Given the description of an element on the screen output the (x, y) to click on. 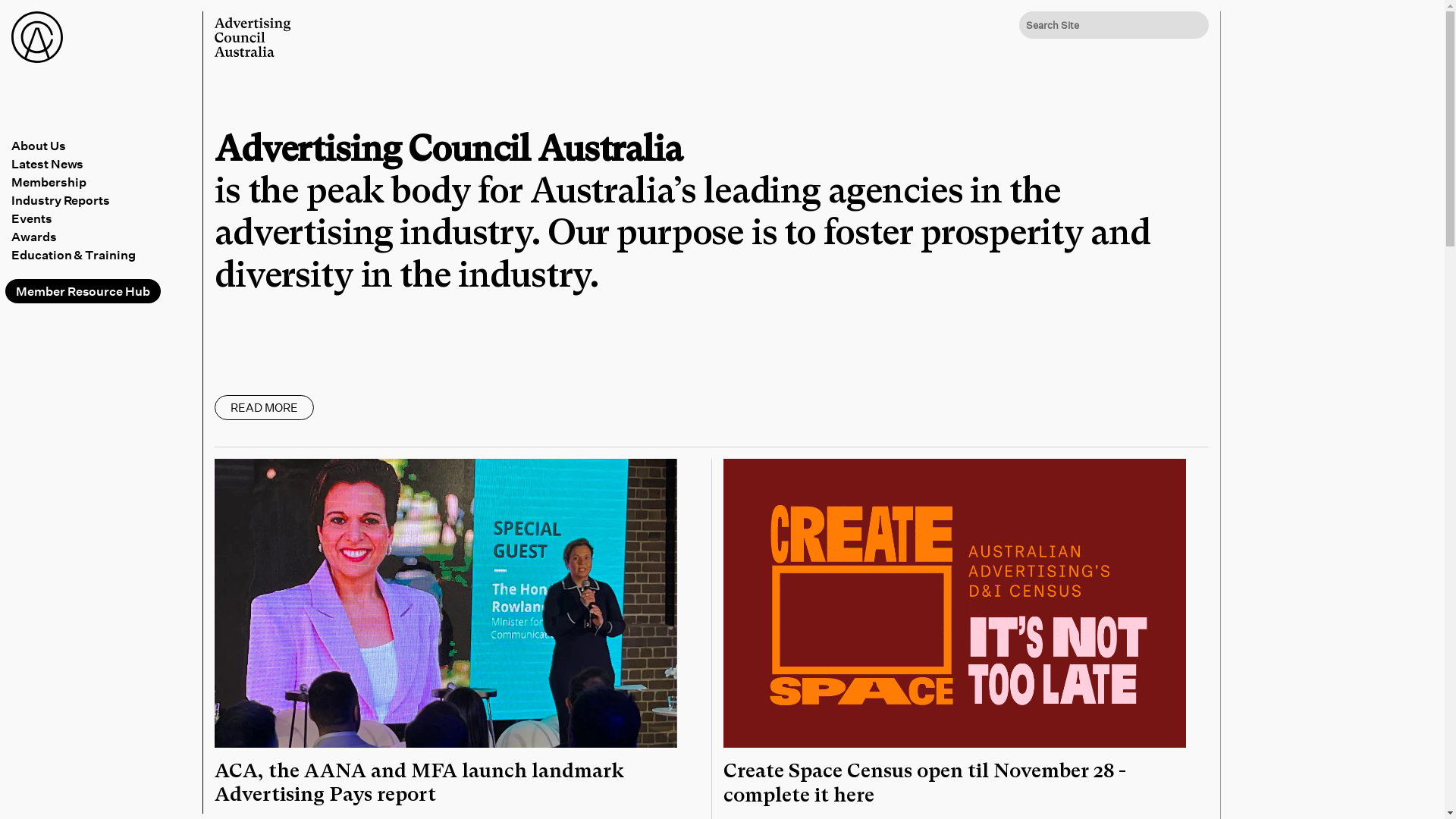
Membership Element type: text (104, 181)
About Us Element type: text (104, 145)
Industry Reports Element type: text (104, 200)
Awards Element type: text (104, 236)
Education & Training Element type: text (104, 254)
Member Resource Hub Element type: text (82, 291)
Create Space Census open til November 28 - complete it here Element type: text (924, 782)
Search Element type: text (25, 14)
advertising-council-australia Element type: hover (252, 36)
READ MORE Element type: text (263, 407)
Events Element type: text (104, 218)
Latest News Element type: text (104, 163)
